Given the description of an element on the screen output the (x, y) to click on. 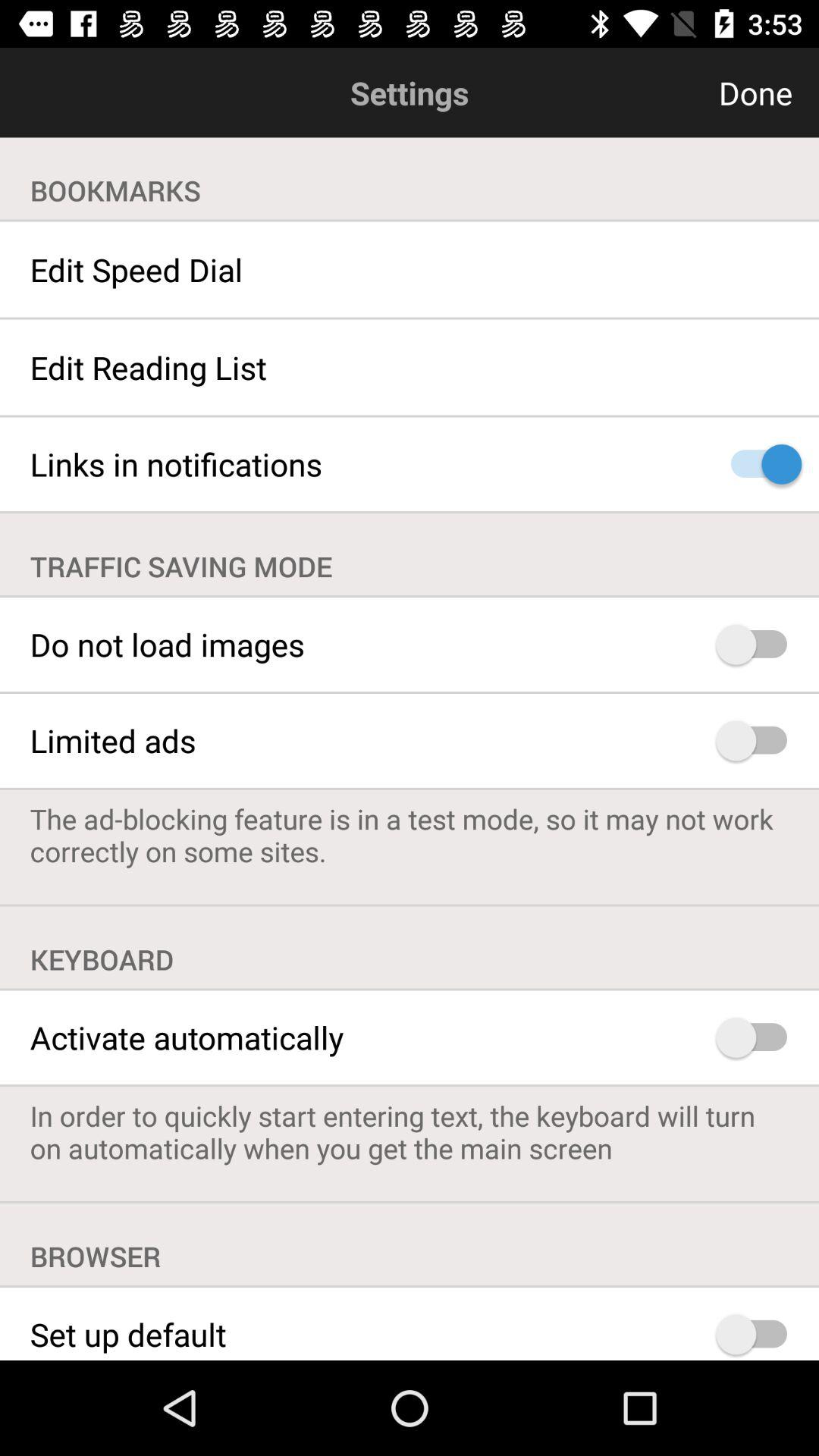
a switch for turning on or off the phone 's ability to download images (758, 644)
